Given the description of an element on the screen output the (x, y) to click on. 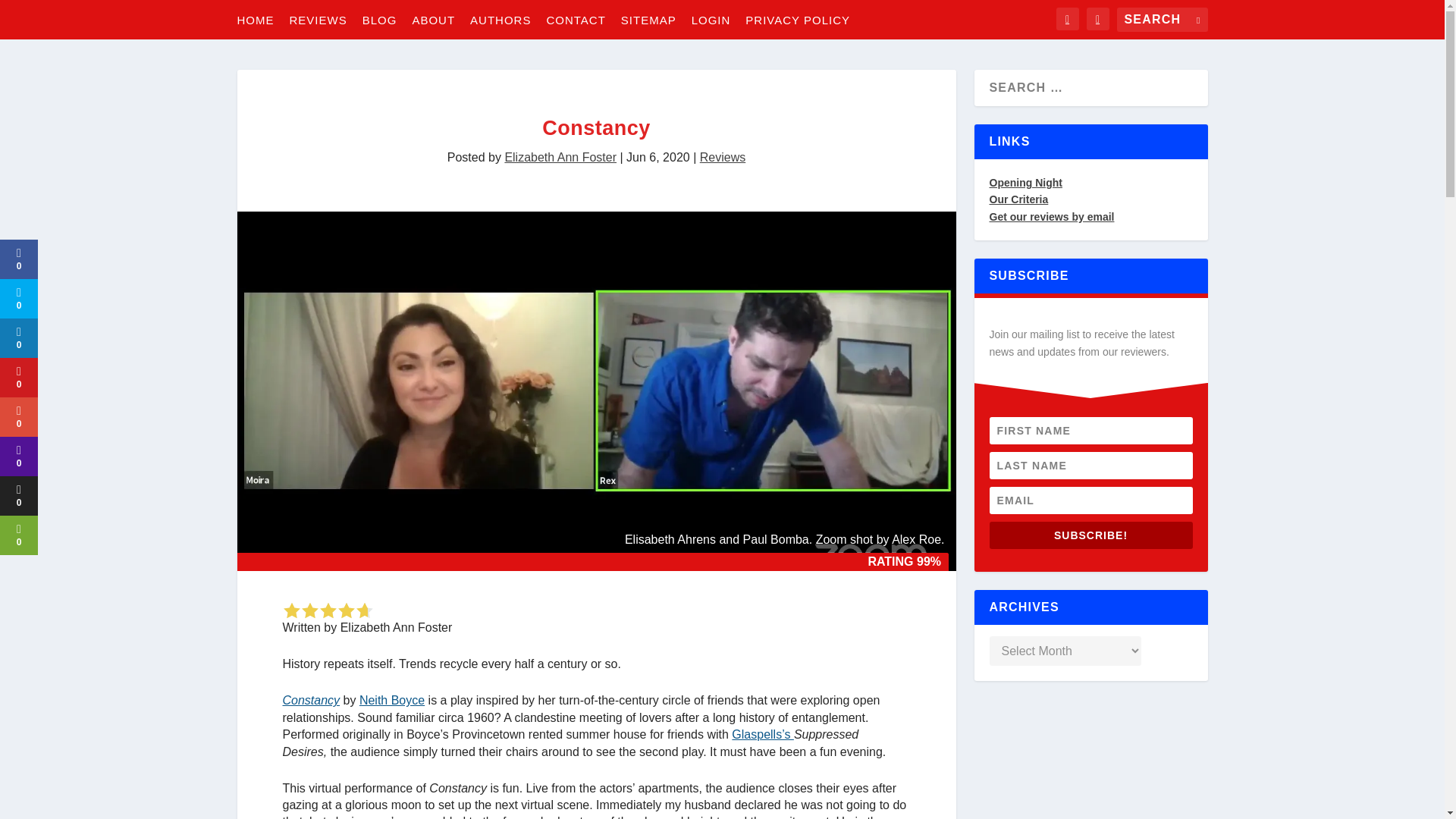
REVIEWS (318, 19)
ABOUT (433, 19)
SITEMAP (649, 19)
BLOG (379, 19)
Posts by Elizabeth Ann Foster (559, 156)
CONTACT (575, 19)
PRIVACY POLICY (797, 19)
LOGIN (710, 19)
HOME (254, 19)
AUTHORS (500, 19)
Search for: (1161, 19)
